Given the description of an element on the screen output the (x, y) to click on. 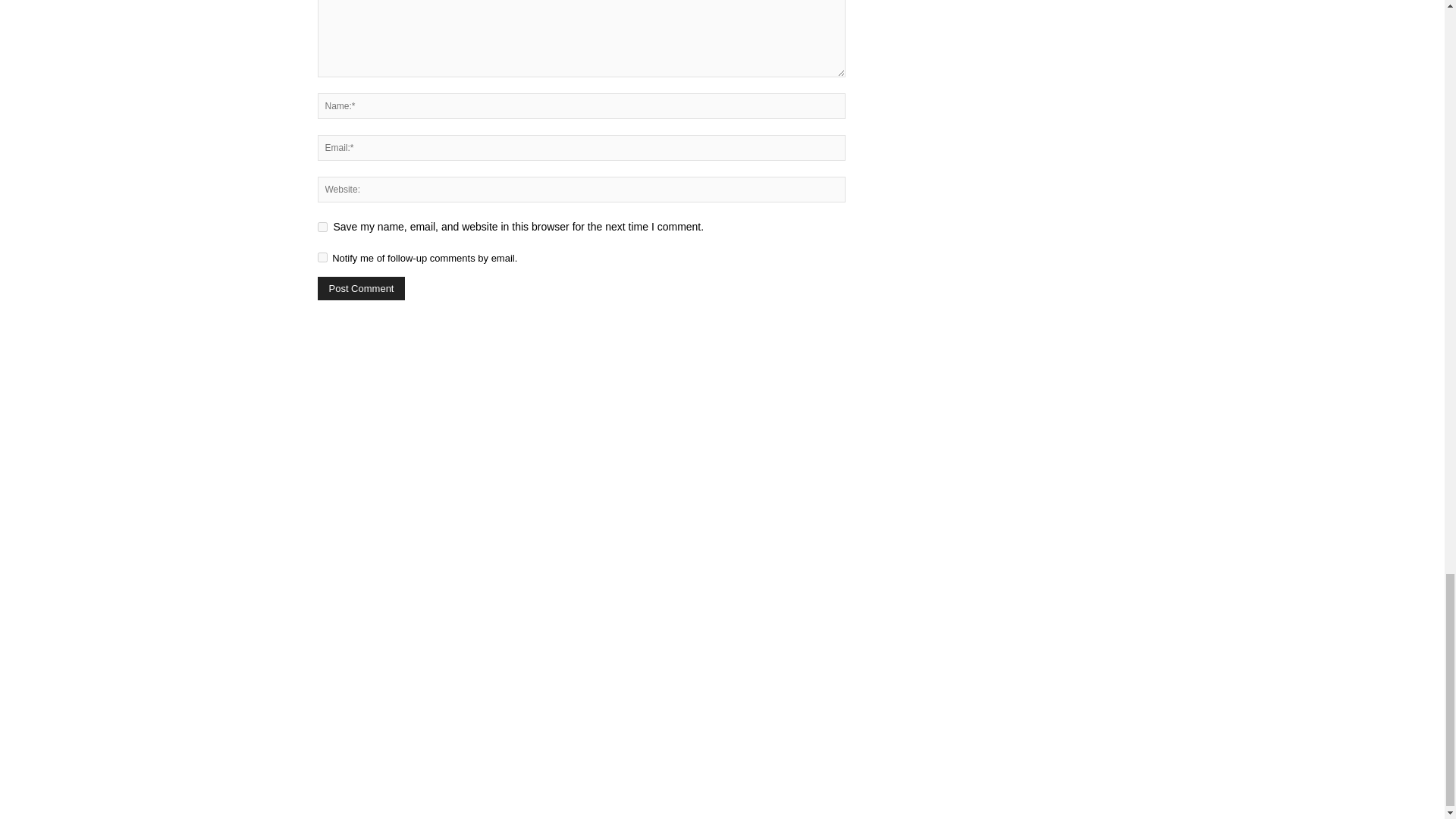
subscribe (321, 257)
Post Comment (360, 288)
yes (321, 226)
